Given the description of an element on the screen output the (x, y) to click on. 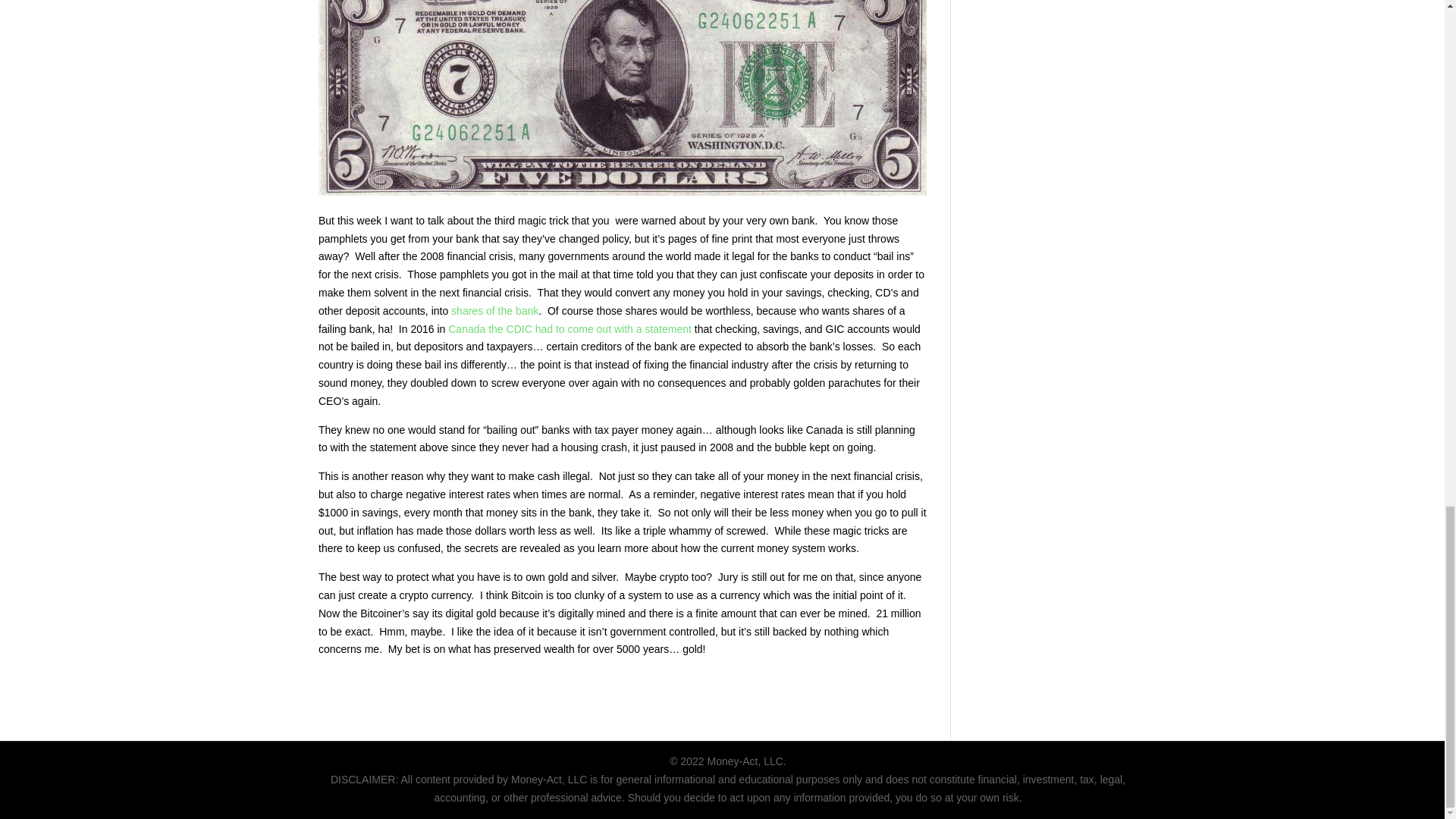
shares of the bank (494, 310)
Canada the CDIC had to come out with a statement (568, 328)
